Given the description of an element on the screen output the (x, y) to click on. 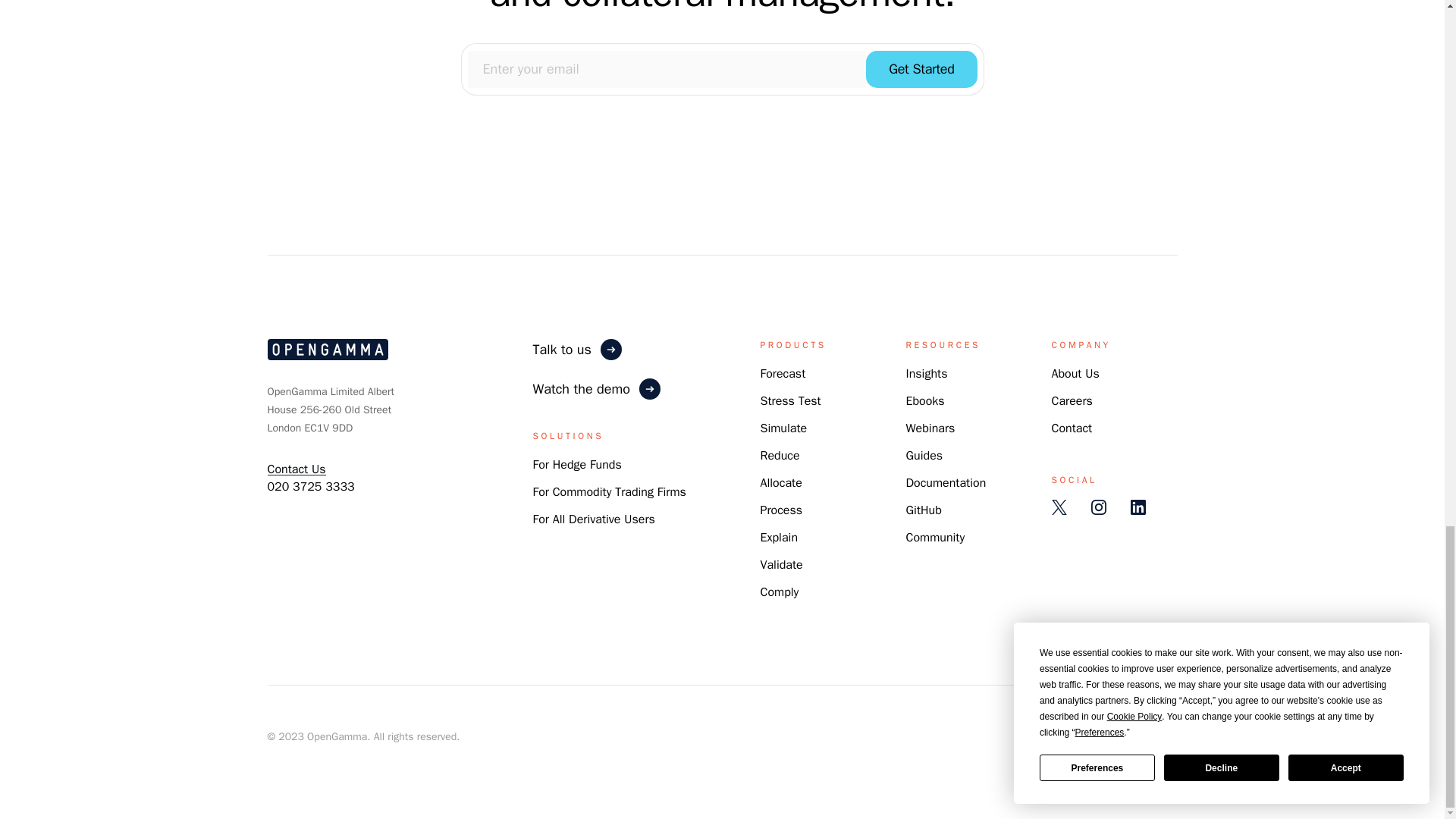
Allocate (781, 482)
Simulate (783, 427)
Watch the demo (646, 388)
Contact Us (295, 469)
Validate (781, 564)
Community (934, 537)
For Commodity Trading Firms (608, 491)
Insights (926, 373)
Documentation (945, 482)
020 3725 3333 (309, 486)
Forecast (782, 373)
Get Started (920, 68)
Guides (923, 455)
Reduce (779, 455)
Ebooks (924, 400)
